Given the description of an element on the screen output the (x, y) to click on. 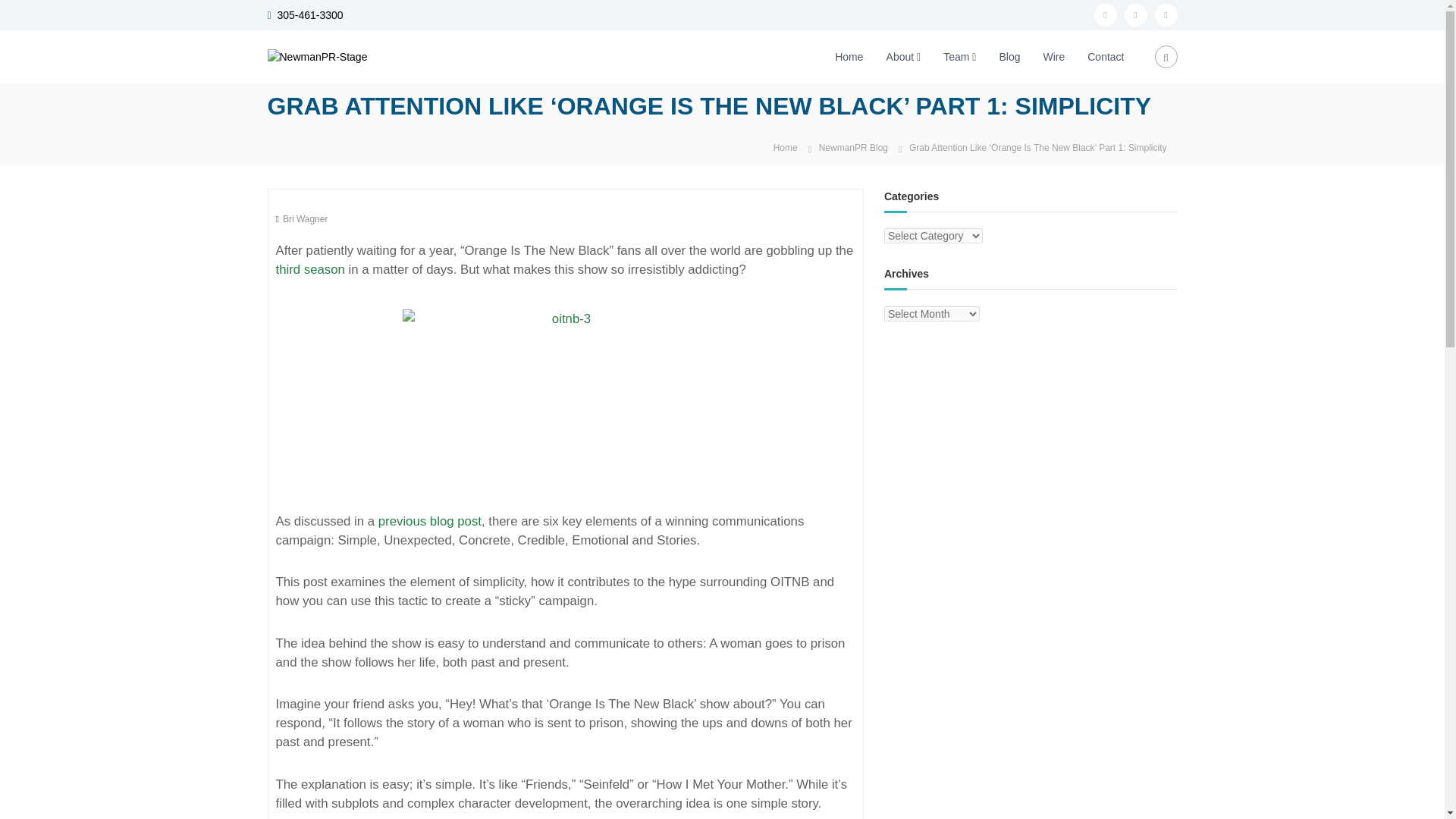
twitter (1135, 15)
facebook (1104, 15)
Bri Wagner (305, 218)
Team (956, 55)
305-461-3300 (309, 15)
Home (785, 146)
Contact (1105, 55)
previous blog post (429, 521)
Blog (1009, 55)
About (900, 55)
Wire (1053, 55)
Home (785, 146)
linkedin (1165, 15)
Home (848, 55)
third season (310, 269)
